Given the description of an element on the screen output the (x, y) to click on. 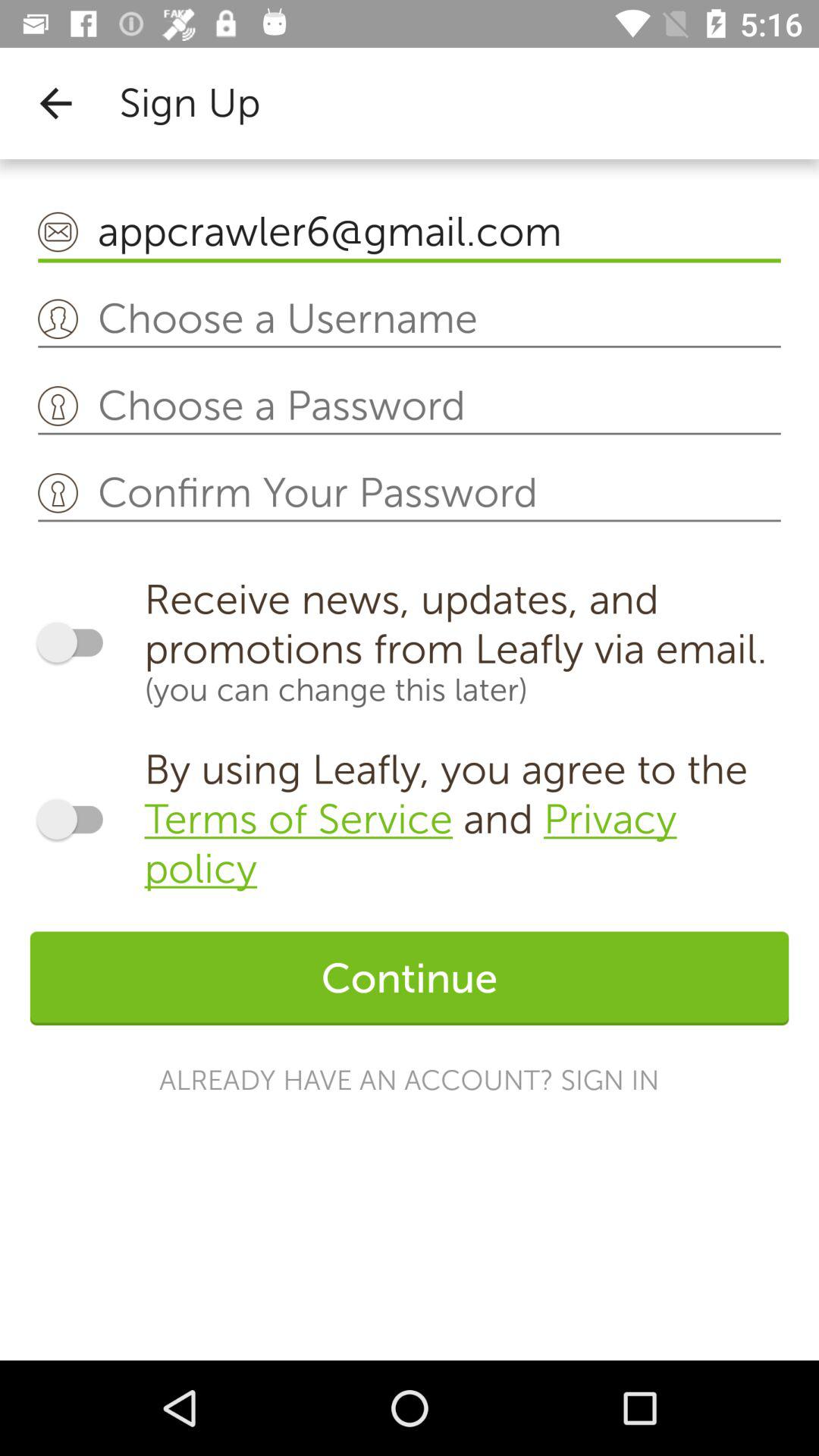
receive news (77, 642)
